Given the description of an element on the screen output the (x, y) to click on. 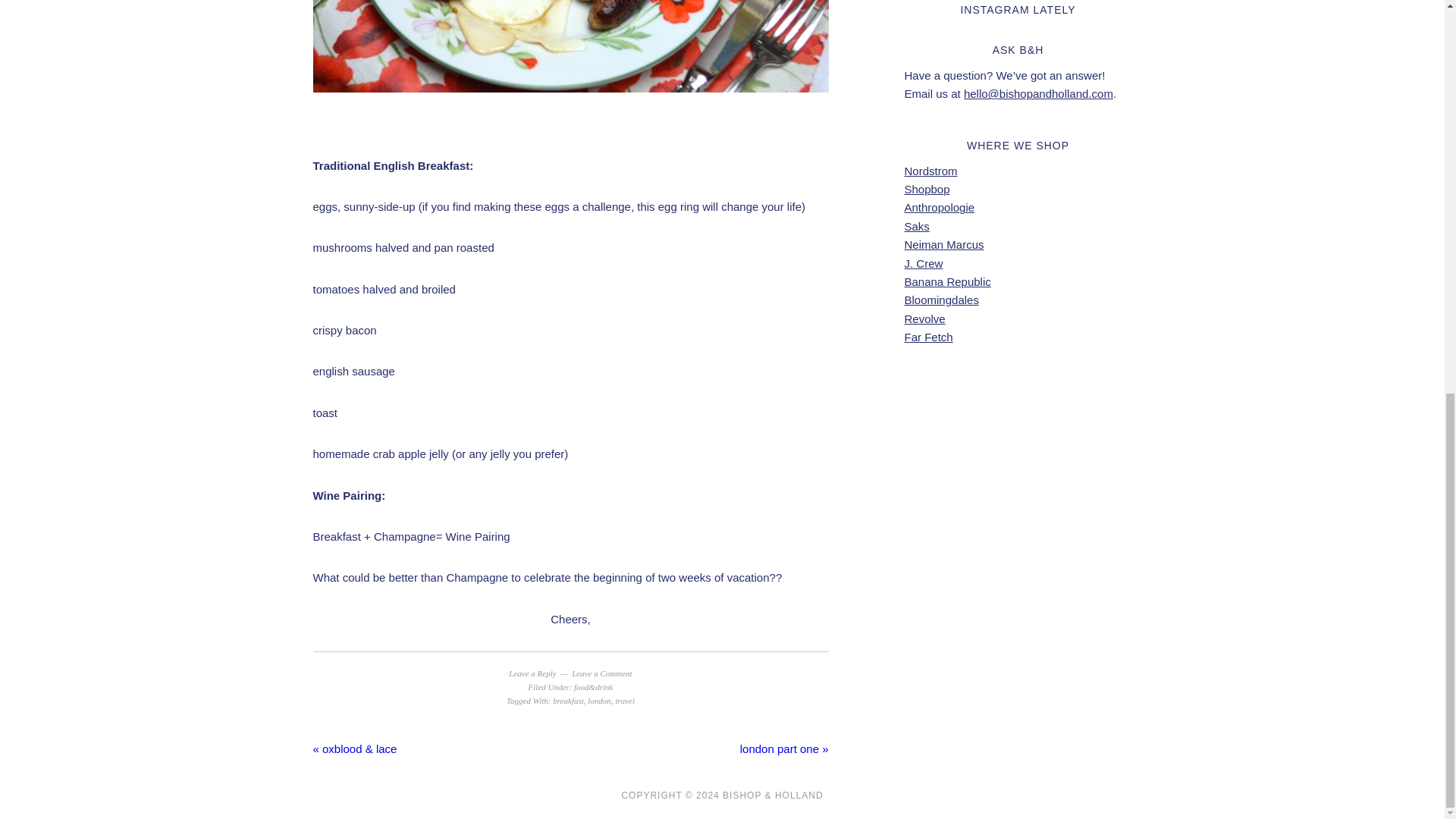
breakfast (568, 700)
travel (624, 700)
Leave a Comment (601, 673)
london (599, 700)
